Given the description of an element on the screen output the (x, y) to click on. 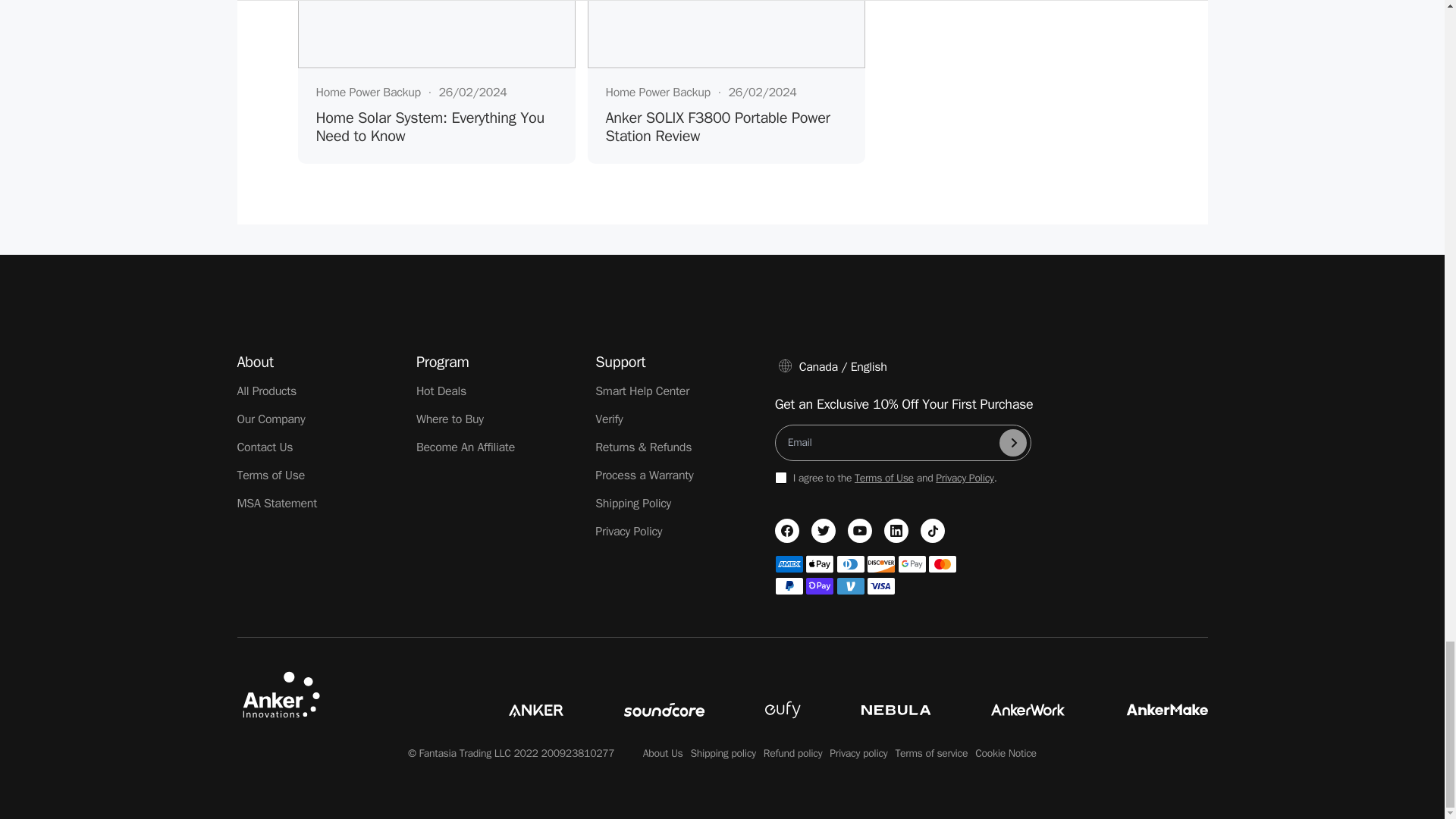
Anker SOLIX F3800 Portable Power Station Review (725, 126)
Home Power Backup (367, 92)
Contact Us (263, 447)
Terms of Use (269, 475)
American Express (788, 564)
Our Company (269, 418)
Home Power Backup (657, 92)
Home Solar System: Everything You Need to Know (435, 126)
All Products (266, 391)
